Given the description of an element on the screen output the (x, y) to click on. 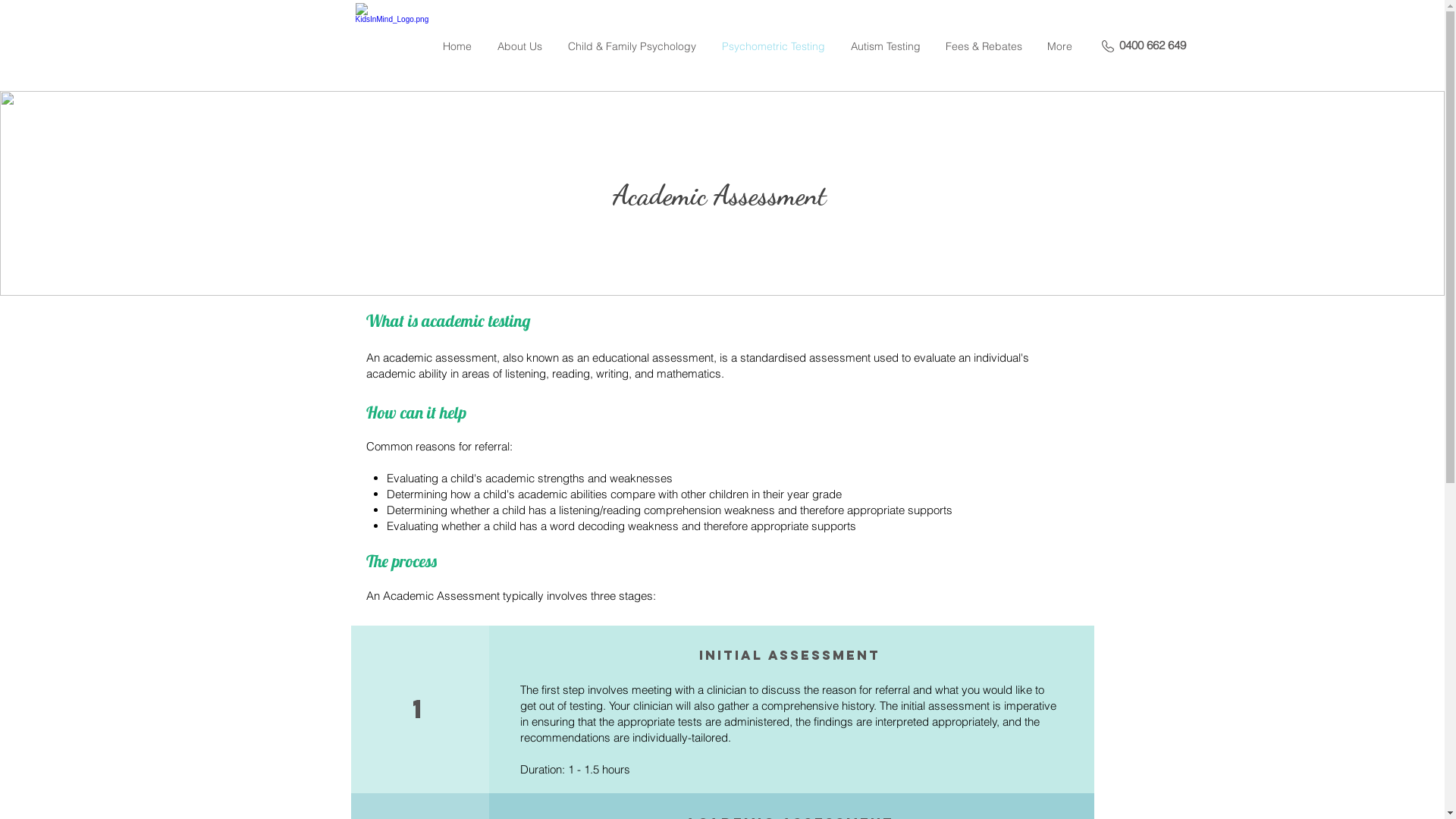
Psychometric Testing Element type: text (772, 45)
Fees & Rebates Element type: text (983, 45)
Child & Family Psychology Element type: text (632, 45)
About Us Element type: text (518, 45)
Autism Testing Element type: text (884, 45)
0400 662 649 Element type: text (1152, 44)
Home Element type: text (456, 45)
